Given the description of an element on the screen output the (x, y) to click on. 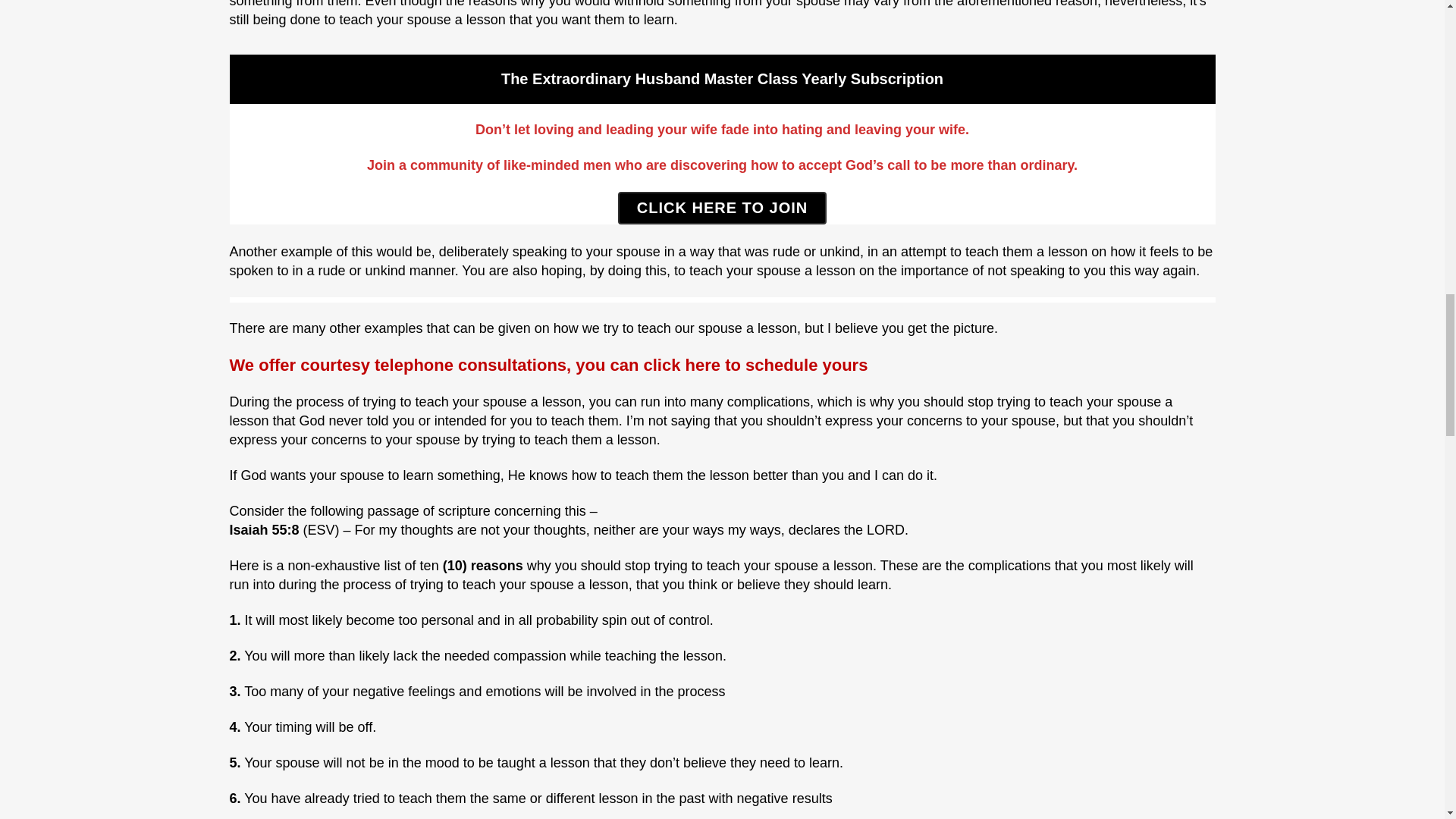
CLICK HERE TO JOIN (722, 207)
